Given the description of an element on the screen output the (x, y) to click on. 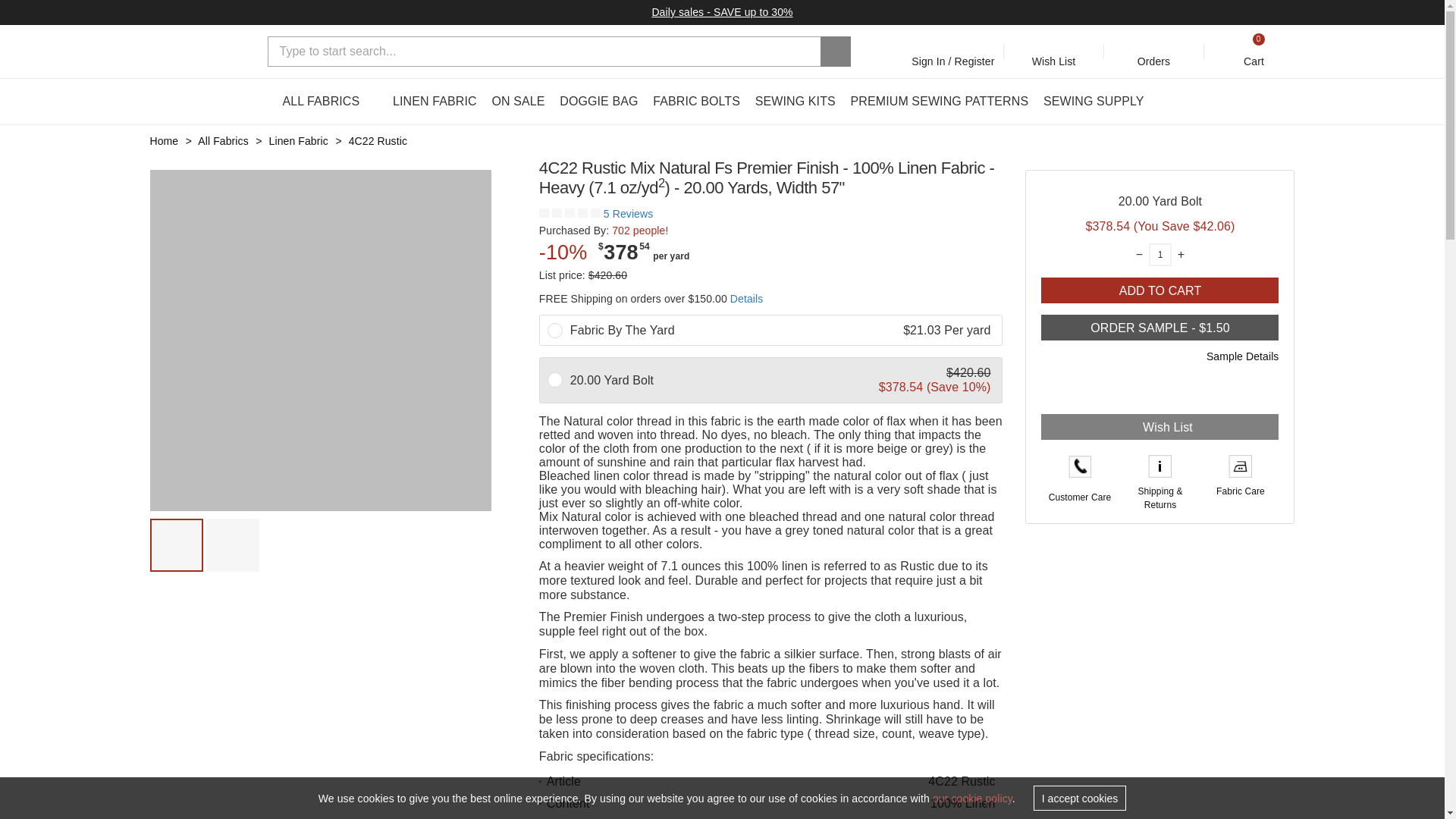
LINEN FABRIC (435, 101)
Wish List (1053, 51)
SEWING KITS (795, 101)
ON SALE (518, 101)
ALL FABRICS (329, 101)
DOGGIE BAG (598, 101)
FABRIC BOLTS (695, 101)
Quantity, whole numbers only (1160, 254)
Orders (1154, 51)
